Given the description of an element on the screen output the (x, y) to click on. 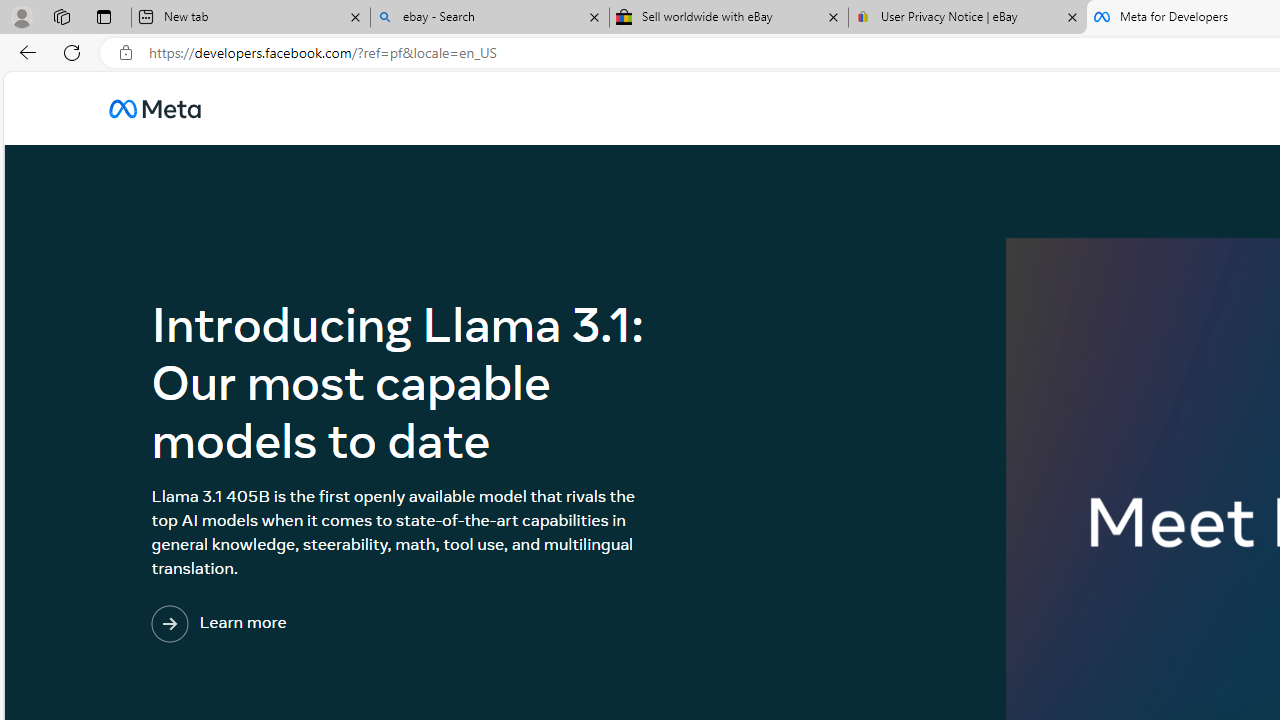
User Privacy Notice | eBay (967, 17)
AutomationID: u_0_25_3H (155, 107)
Sell worldwide with eBay (729, 17)
Learn more (301, 624)
